Given the description of an element on the screen output the (x, y) to click on. 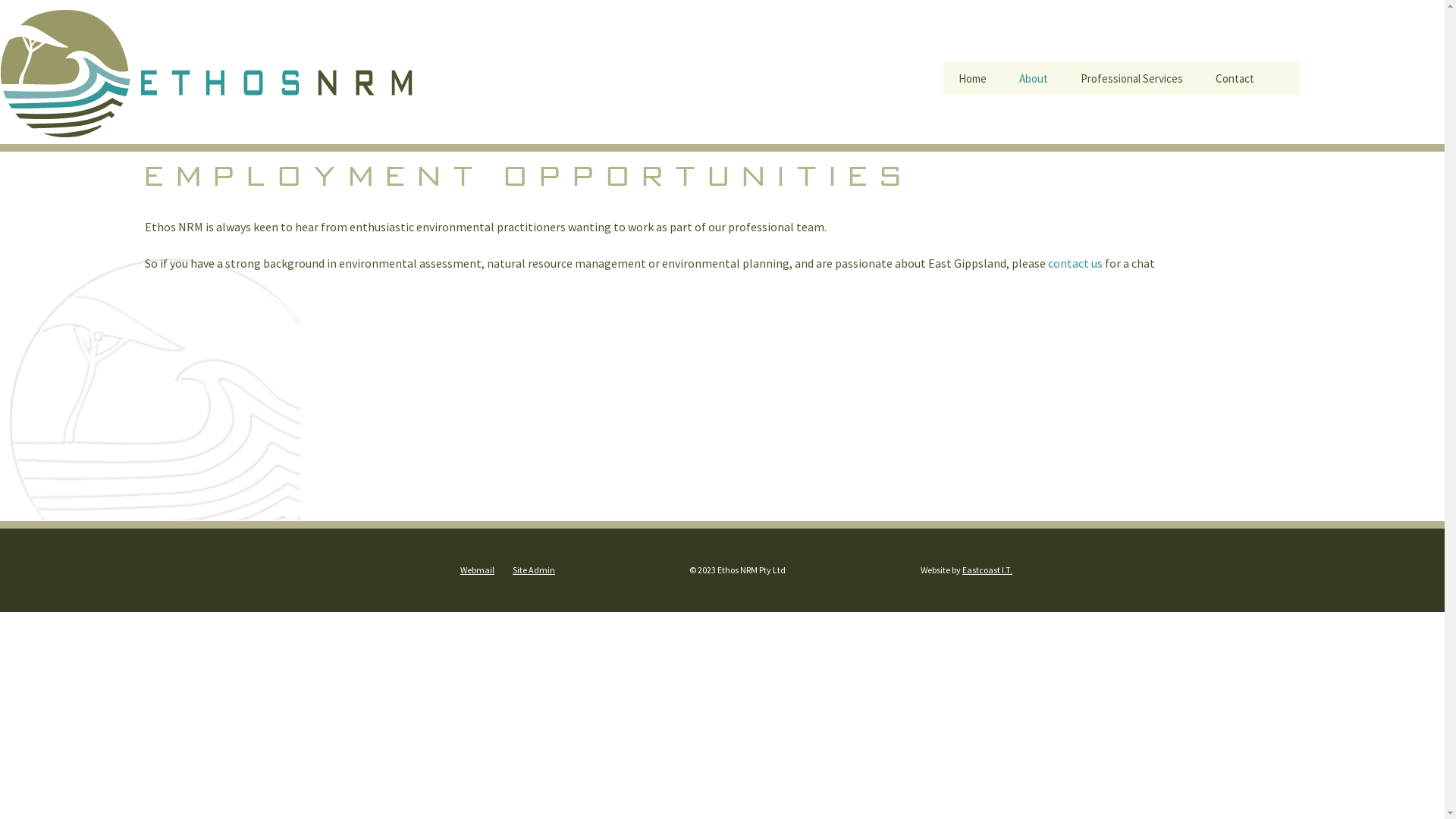
Ethos NRM Element type: text (1079, 112)
Eastcoast I.T. Element type: text (987, 569)
Contact Element type: text (1234, 78)
Professional Services Element type: text (1131, 78)
Site Admin Element type: text (533, 569)
About Element type: text (1033, 78)
contact us Element type: text (1075, 262)
Environmental Assessment Element type: text (1141, 118)
Webmail Element type: text (477, 569)
Skip to content Element type: text (983, 70)
Home Element type: text (972, 78)
